Given the description of an element on the screen output the (x, y) to click on. 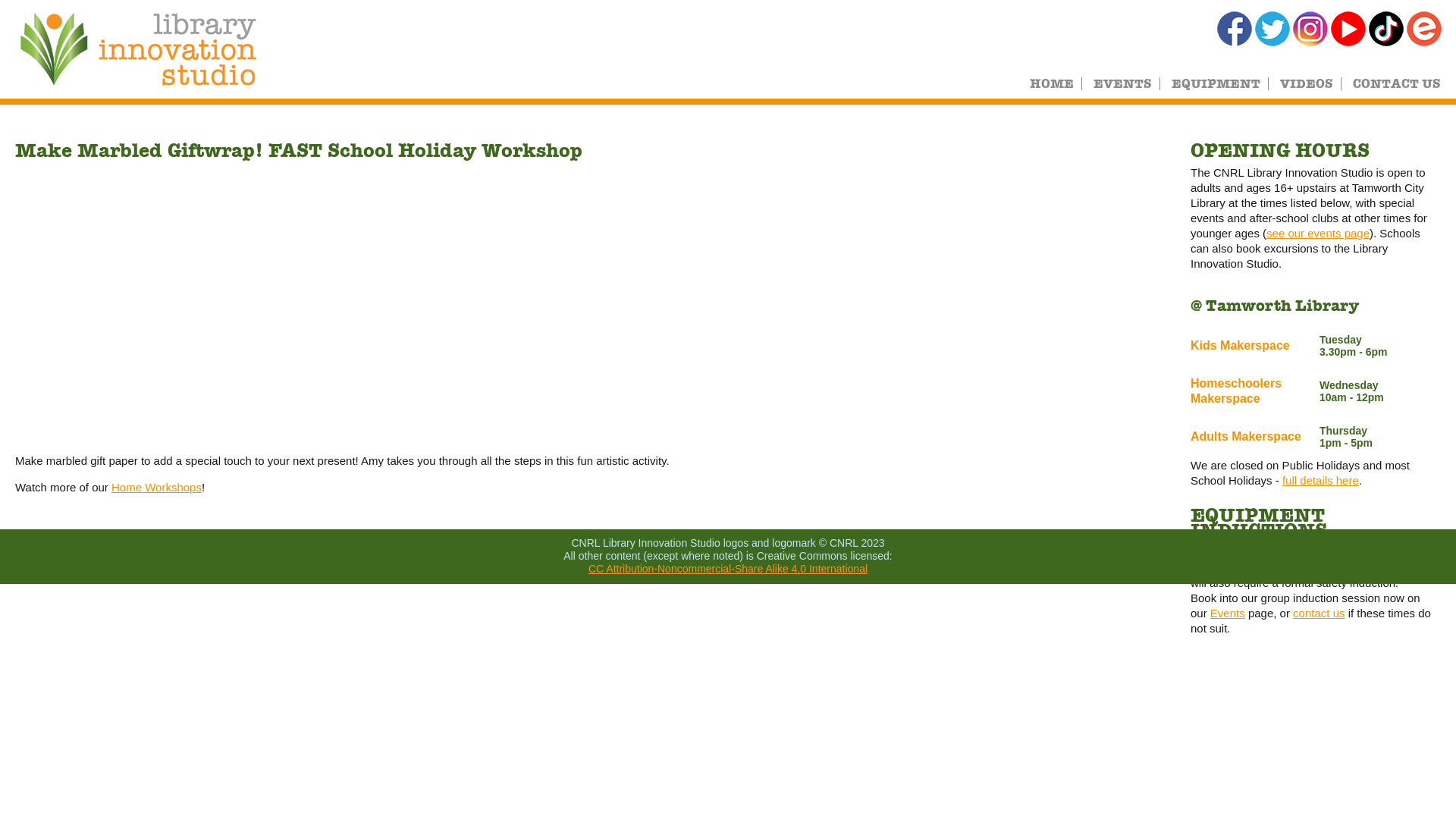
Home Workshops Element type: text (156, 486)
HOME Element type: text (1051, 83)
CC Attribution-Noncommercial-Share Alike 4.0 International Element type: text (727, 568)
Events Element type: text (1227, 612)
YouTube Element type: text (1347, 28)
full details here Element type: text (1320, 479)
Instagram Element type: text (1309, 28)
VIDEOS Element type: text (1306, 83)
contact us Element type: text (1318, 612)
EVENTS Element type: text (1122, 83)
Innovation Studio - #innovationstew Element type: text (161, 49)
TikTok Element type: text (1385, 28)
EventBrite Element type: text (1423, 28)
Twitter Element type: text (1272, 28)
EQUIPMENT Element type: text (1215, 83)
see our events page Element type: text (1317, 232)
Facebook Element type: text (1234, 28)
CONTACT US Element type: text (1396, 83)
